Given the description of an element on the screen output the (x, y) to click on. 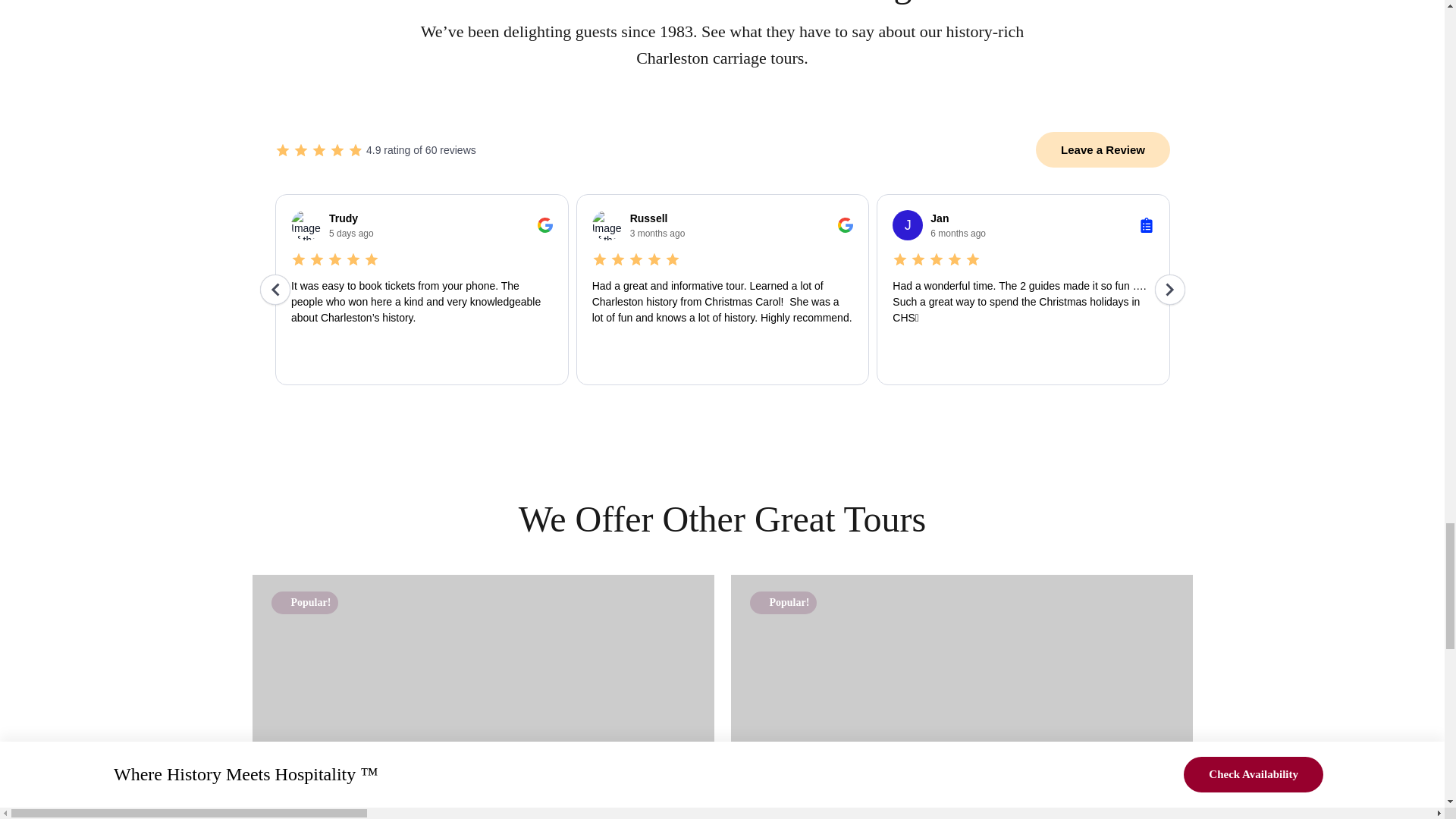
Popular! (482, 696)
Popular! (961, 696)
